Given the description of an element on the screen output the (x, y) to click on. 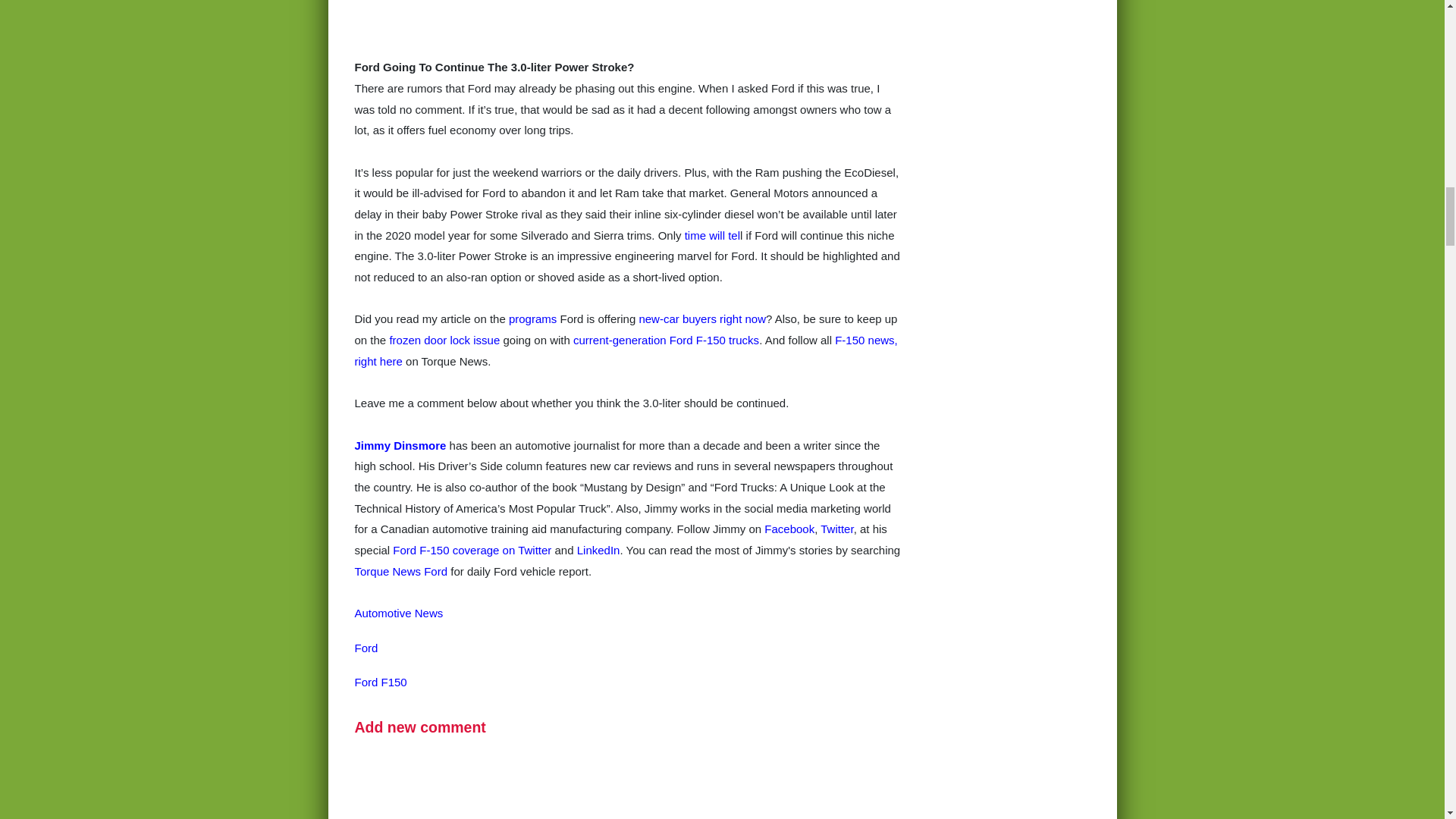
programs (532, 352)
new-car buyers right now (702, 352)
current-generation Ford F-150 trucks (665, 373)
Share your thoughts and opinions. (420, 760)
LinkedIn (598, 584)
Add new comment (420, 760)
time will tel (711, 268)
Ford F150 (381, 716)
Ford F-150 coverage on Twitter (472, 584)
Automotive News (399, 646)
